Given the description of an element on the screen output the (x, y) to click on. 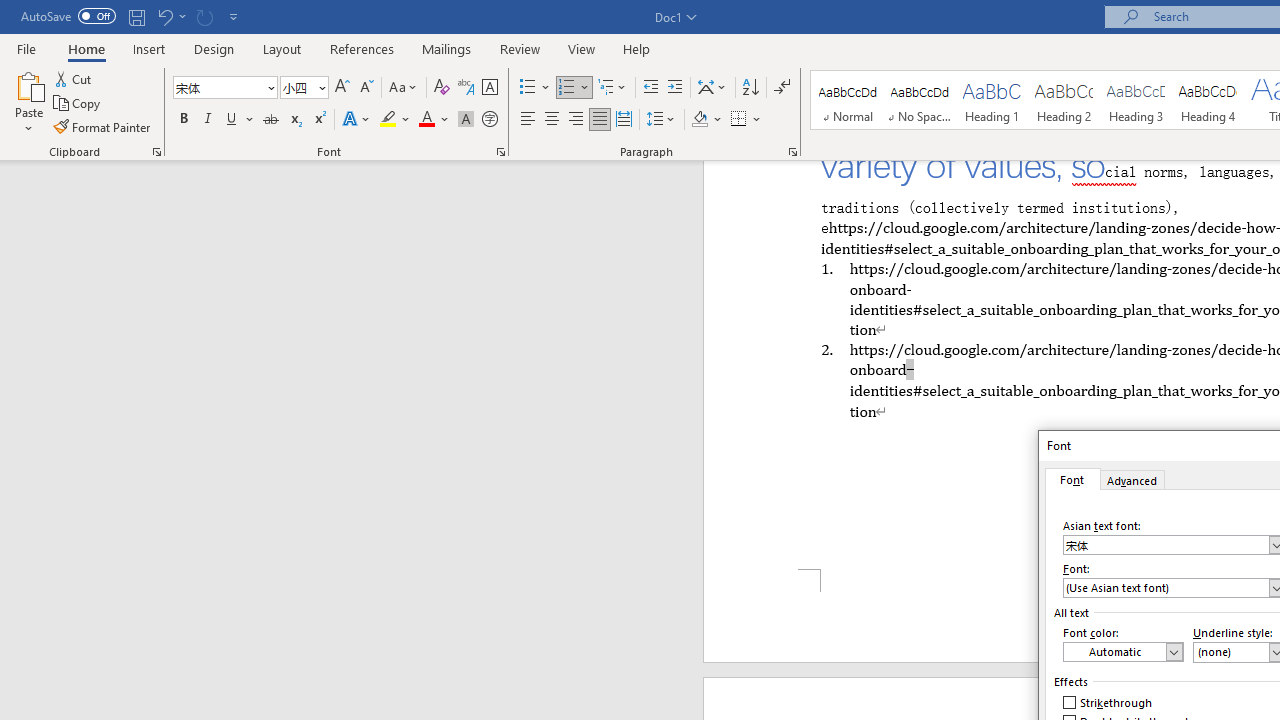
Bullets (535, 87)
Clear Formatting (442, 87)
Font (1071, 479)
AutoSave (68, 16)
Undo Apply Quick Style (170, 15)
Heading 4 (1208, 100)
Show/Hide Editing Marks (781, 87)
Copy (78, 103)
Home (86, 48)
Heading 2 (1063, 100)
Help (637, 48)
Office Clipboard... (156, 151)
Asian Layout (712, 87)
Strikethrough (1108, 702)
